Given the description of an element on the screen output the (x, y) to click on. 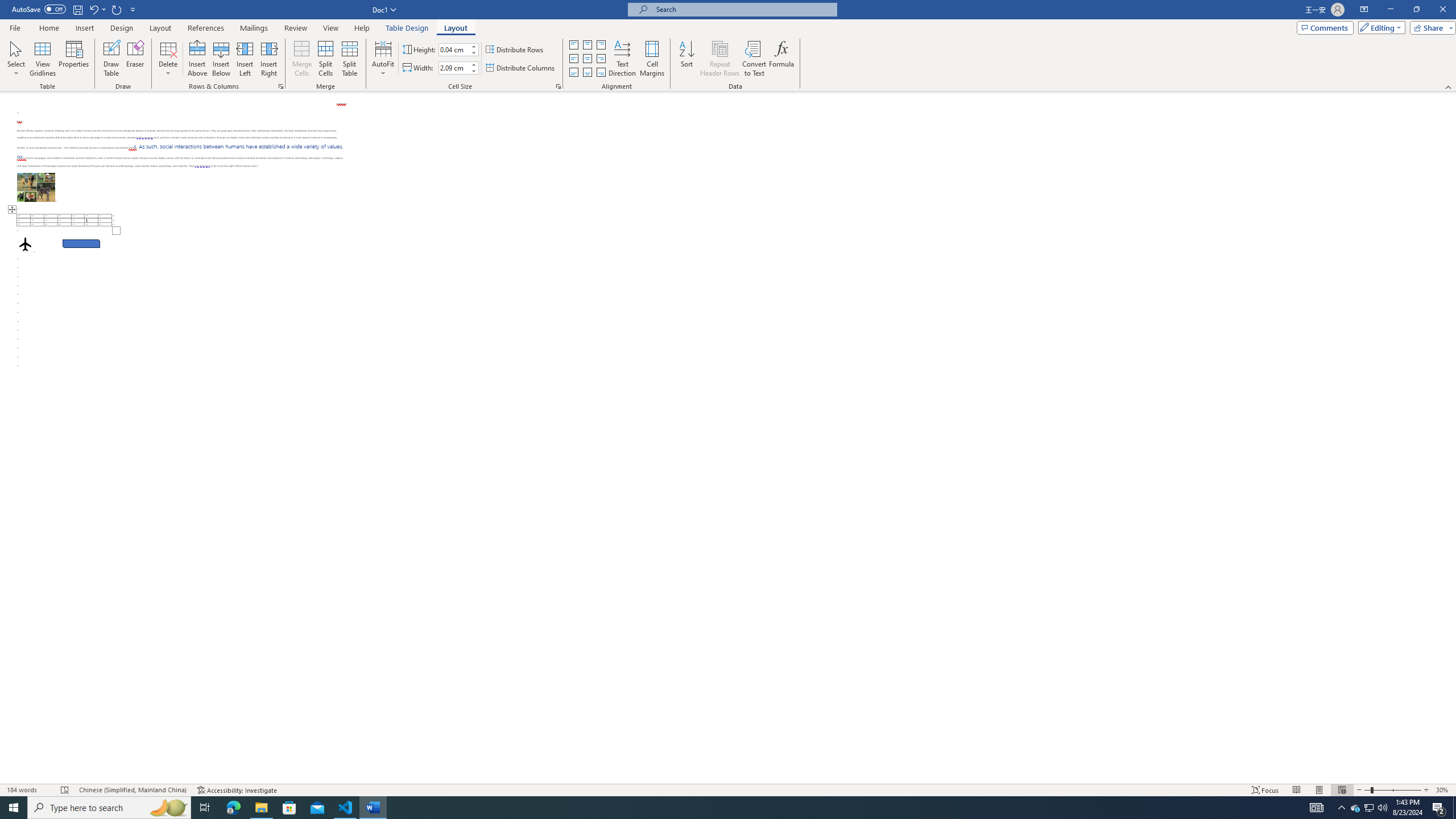
Text Direction (622, 58)
Draw Table (111, 58)
Split Table (349, 58)
Microsoft search (742, 9)
Distribute Columns (521, 67)
Insert Cells... (280, 85)
Editing (1379, 27)
Properties... (558, 85)
View Gridlines (42, 58)
